Given the description of an element on the screen output the (x, y) to click on. 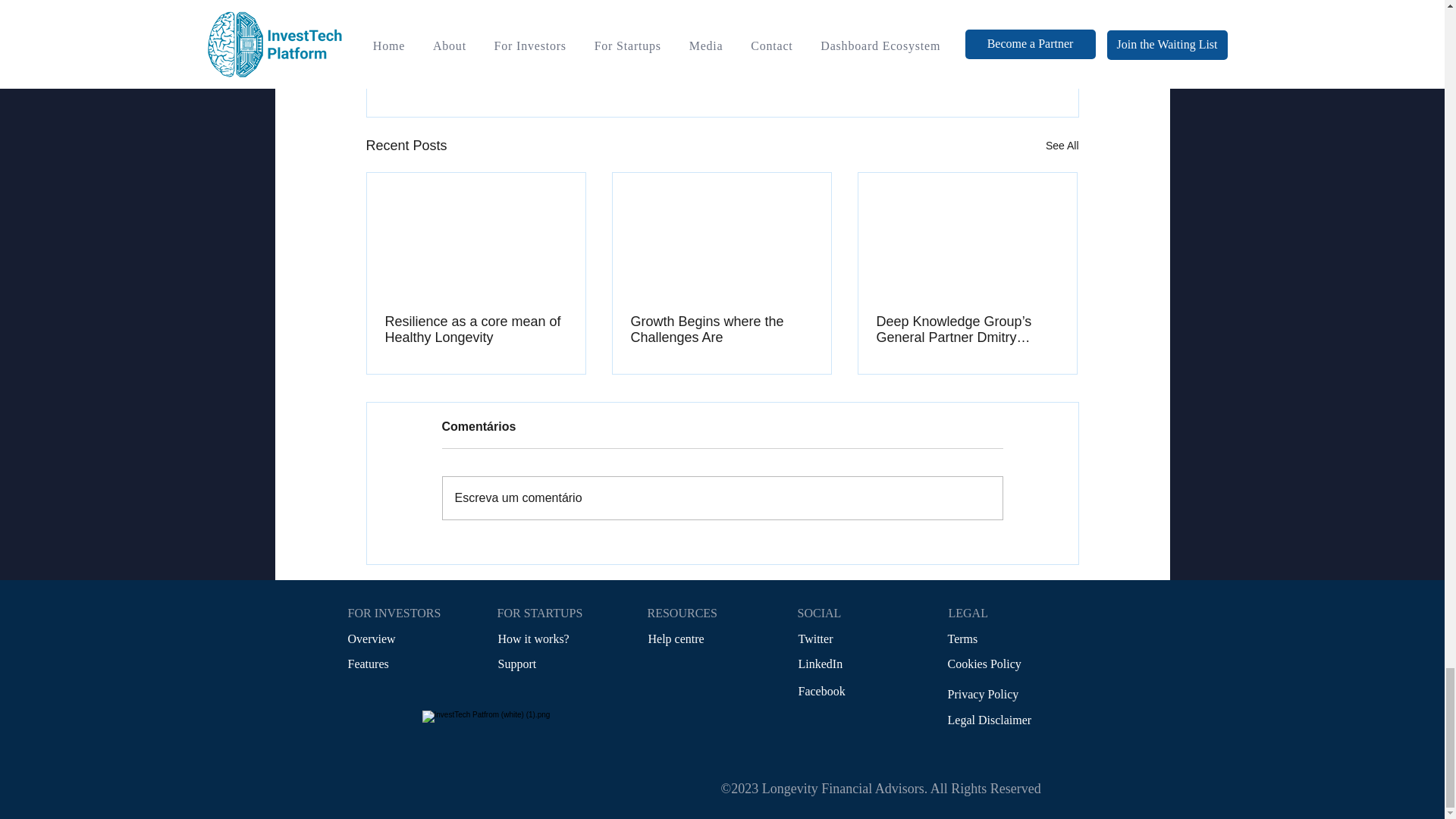
See All (1061, 146)
Growth Begins where the Challenges Are (721, 329)
Overview (370, 638)
